Given the description of an element on the screen output the (x, y) to click on. 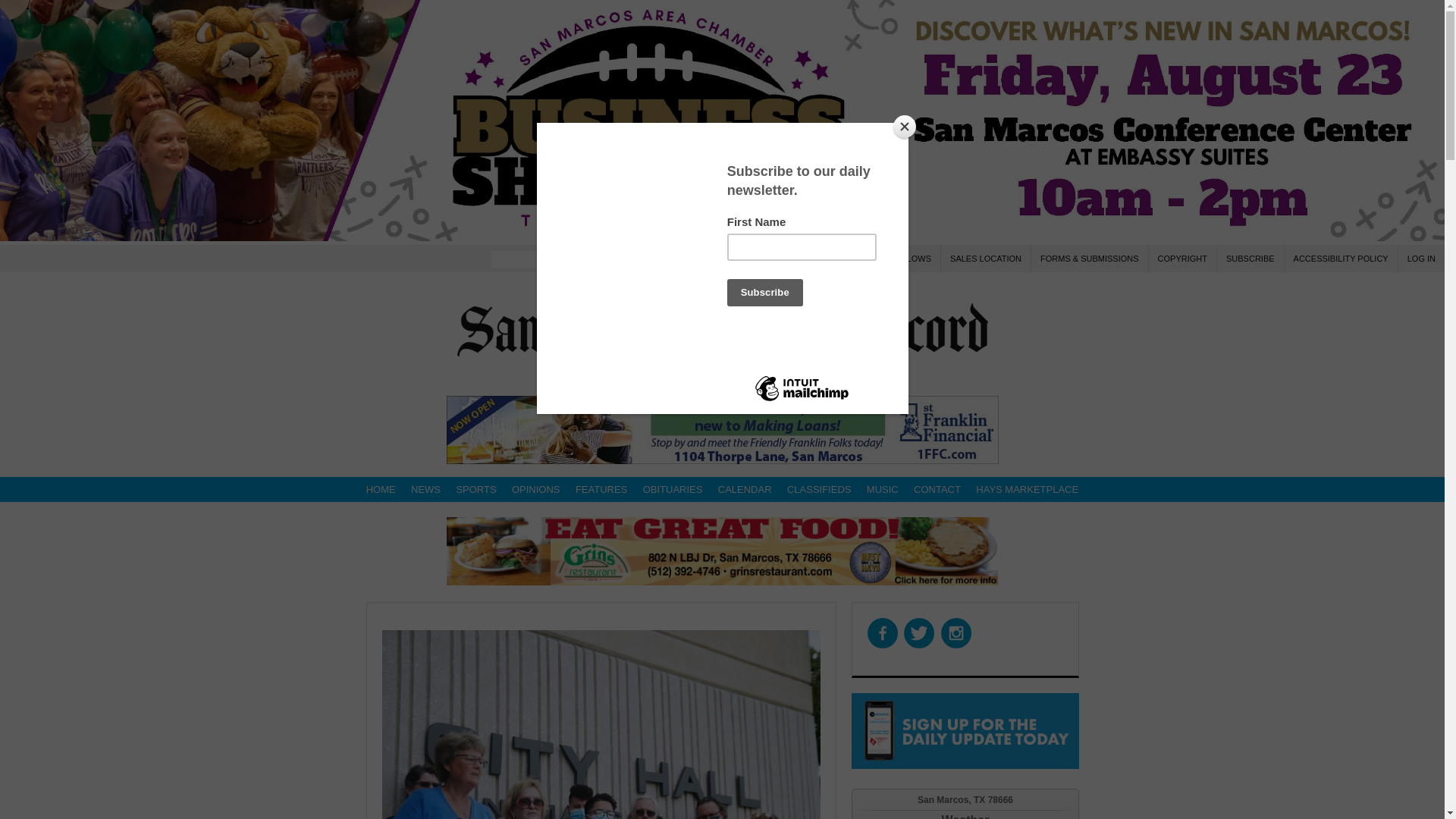
OPINIONS (535, 489)
FEATURES (601, 489)
RIVER FLOWS (902, 257)
CALENDAR (744, 489)
NEWS (425, 489)
HAYS MARKETPLACE (1026, 489)
News (425, 489)
Enter the terms you wish to search for. (540, 259)
Search (613, 257)
Opinions (535, 489)
HOME (380, 489)
ADVERTISE (764, 257)
Features (601, 489)
Sports (475, 489)
SUBSCRIBE (1250, 257)
